Given the description of an element on the screen output the (x, y) to click on. 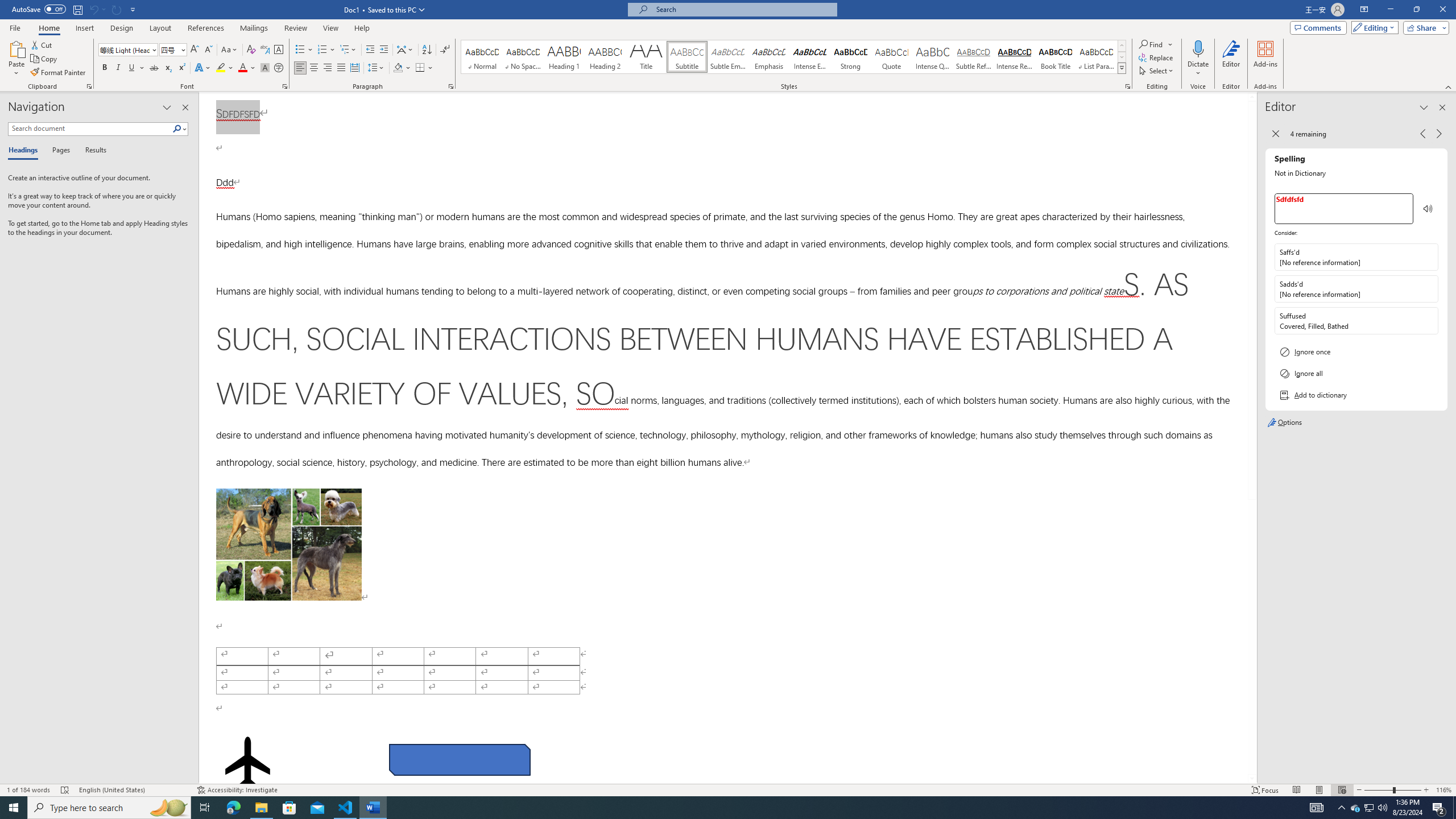
Character Shading (264, 67)
Find (1155, 44)
Text Effects and Typography (202, 67)
Row Down (1121, 56)
Can't Undo (92, 9)
Web Layout (1342, 790)
Airplane with solid fill (247, 762)
Layout (160, 28)
AutomationID: DrillInPane_ReadContext (1428, 208)
Styles... (1127, 85)
Bullets (304, 49)
Rectangle: Diagonal Corners Snipped 2 (458, 759)
Phonetic Guide... (264, 49)
